Given the description of an element on the screen output the (x, y) to click on. 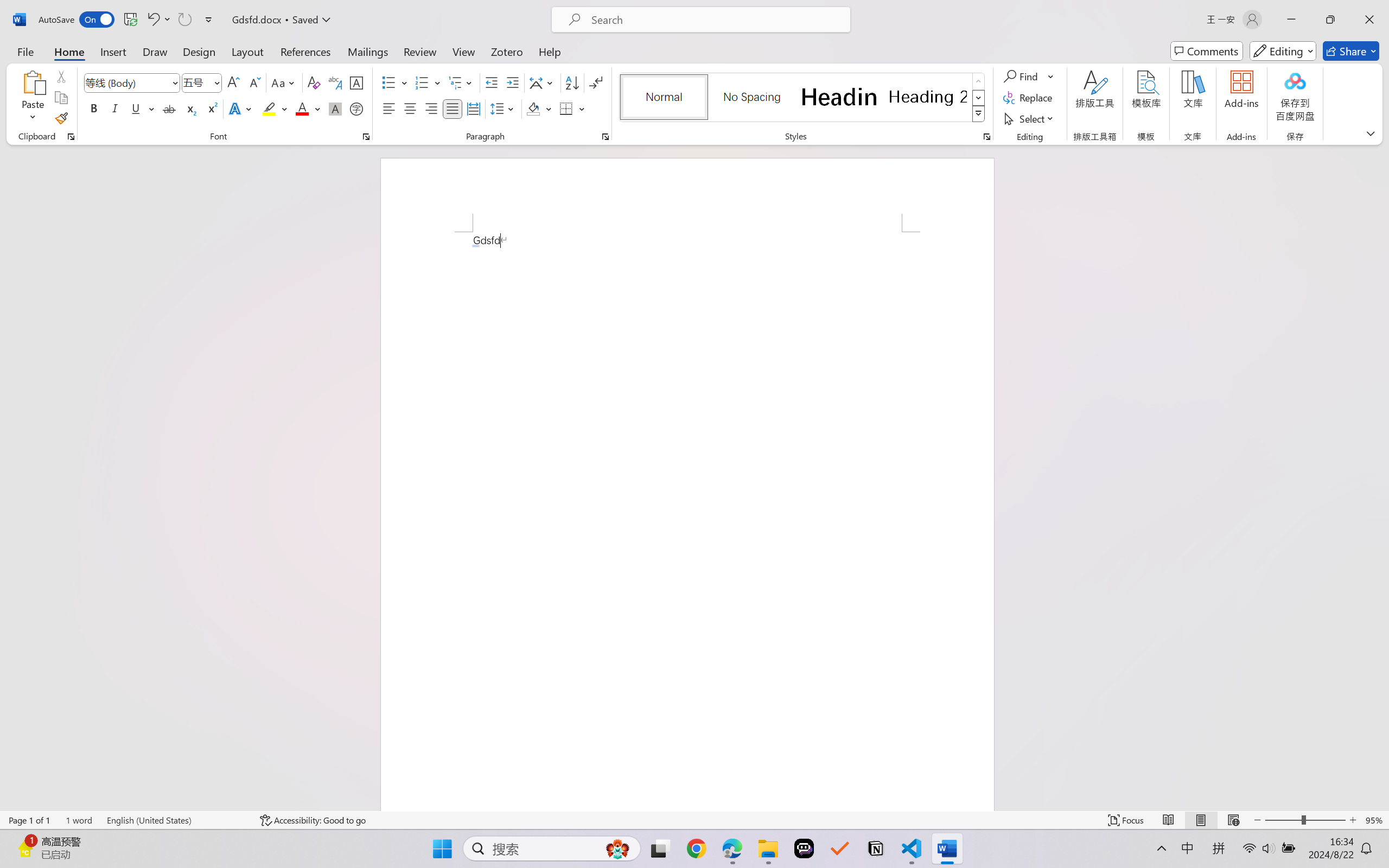
Font... (365, 136)
Font Color (308, 108)
Decrease Indent (491, 82)
Format Painter (60, 118)
Increase Indent (512, 82)
Undo AutoCorrect (158, 19)
Italic (115, 108)
